Given the description of an element on the screen output the (x, y) to click on. 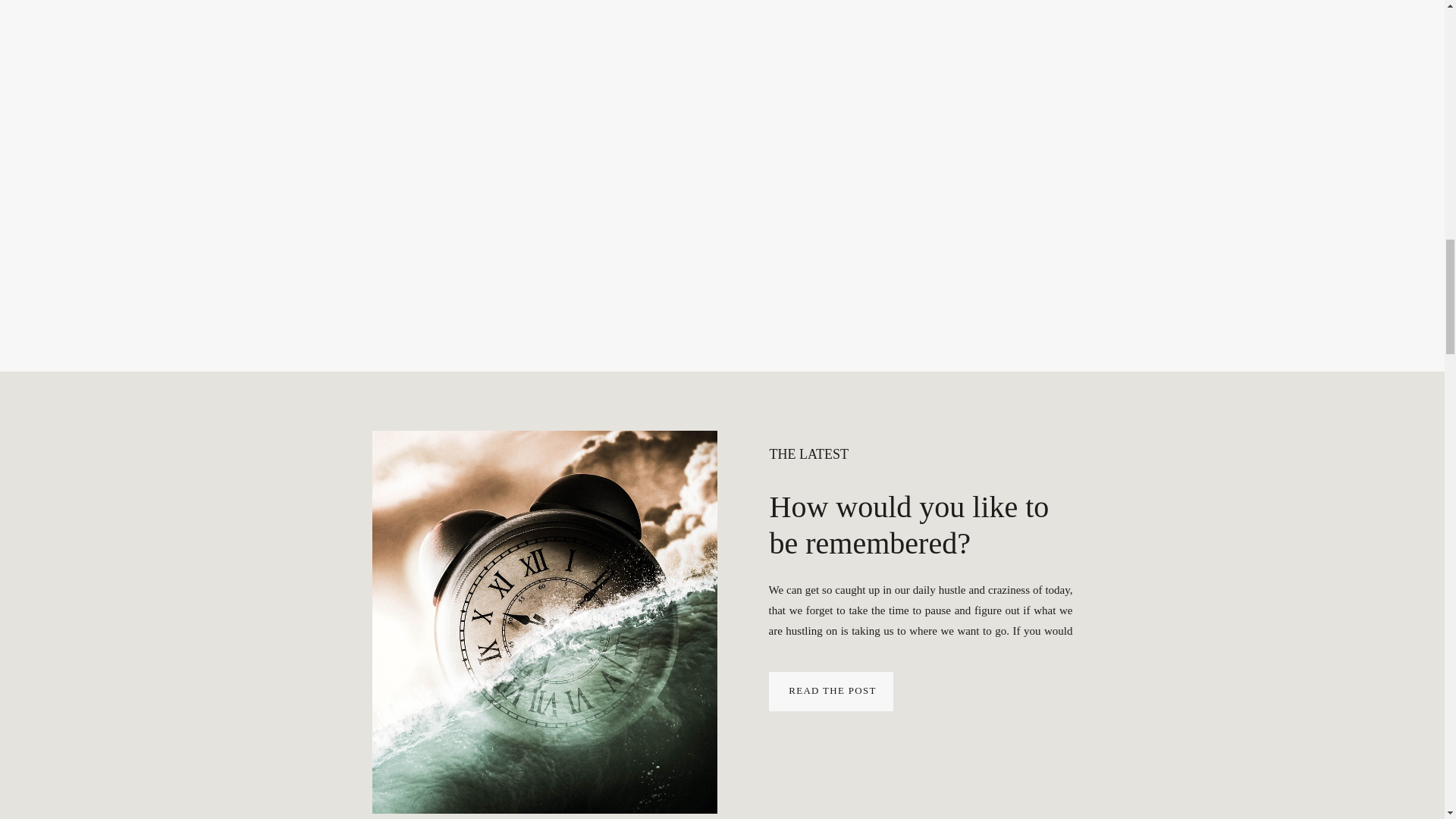
How would you like to be remembered? (543, 622)
How would you like to be remembered? (831, 690)
READ THE POST (831, 690)
How would you like to be remembered? (908, 524)
How would you like to be remembered? (830, 691)
